Given the description of an element on the screen output the (x, y) to click on. 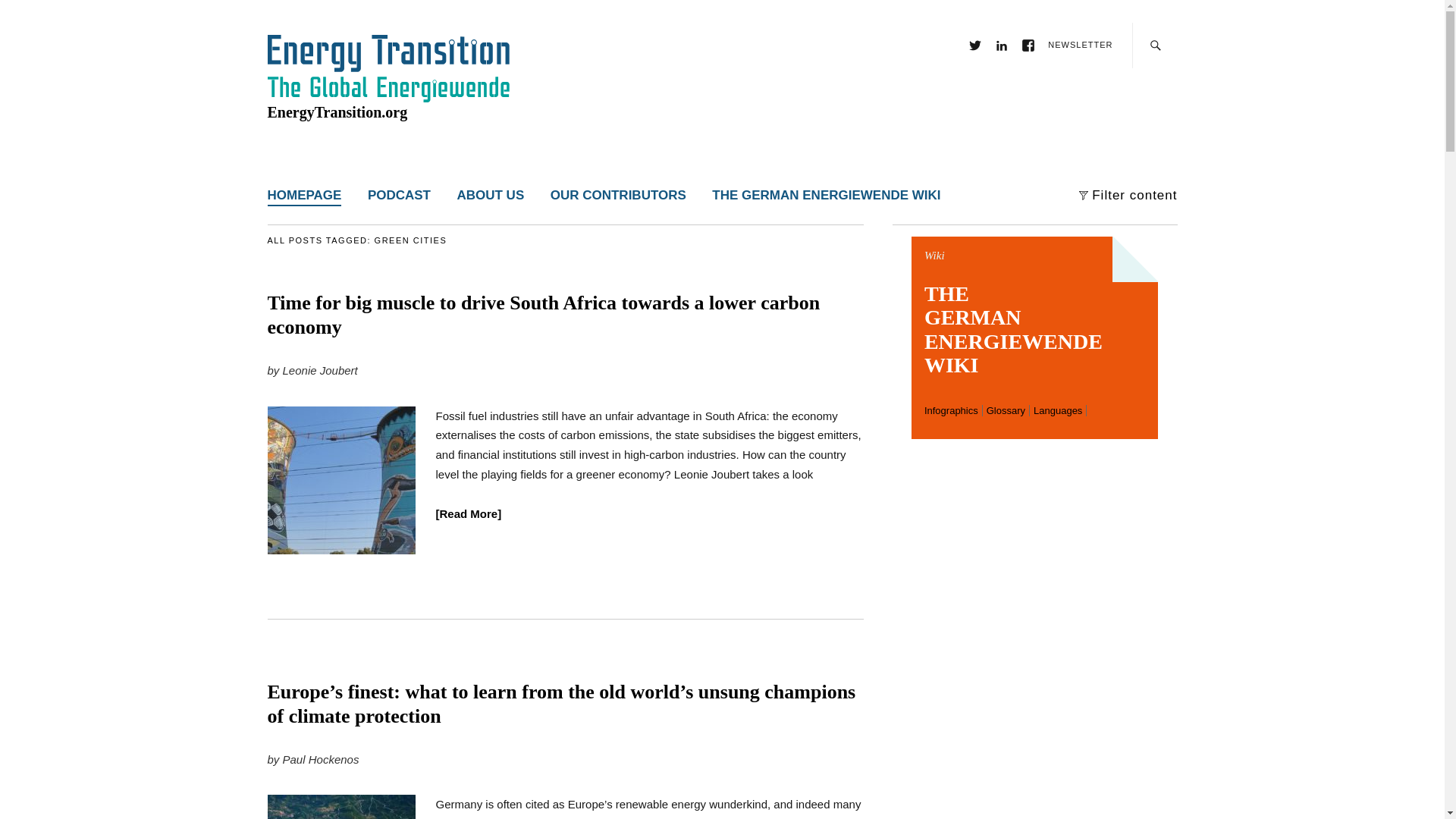
NEWSLETTER (1080, 44)
EnergyTransition.org (336, 112)
THE GERMAN ENERGIEWENDE WIKI (825, 192)
ABOUT US (490, 192)
EnergyTransition.org (336, 112)
All posts by Leonie Joubert (320, 369)
All posts by Paul Hockenos (320, 758)
OUR CONTRIBUTORS (617, 192)
HOMEPAGE (303, 192)
